Given the description of an element on the screen output the (x, y) to click on. 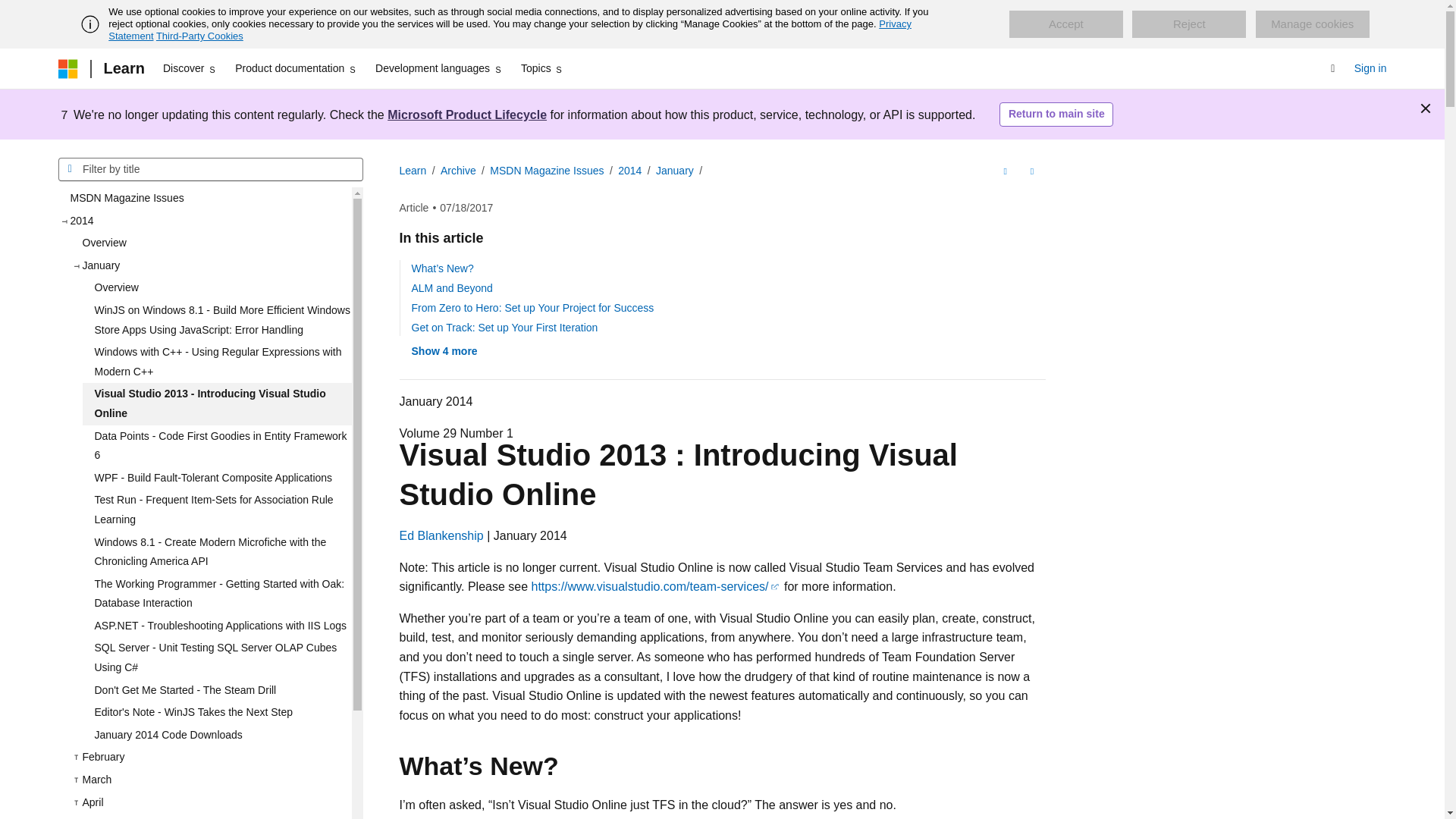
Topics (542, 68)
More actions (1031, 170)
Development languages (438, 68)
Discover (189, 68)
Privacy Statement (509, 29)
Overview (209, 242)
Sign in (1370, 68)
Microsoft Product Lifecycle (467, 114)
Product documentation (295, 68)
